Given the description of an element on the screen output the (x, y) to click on. 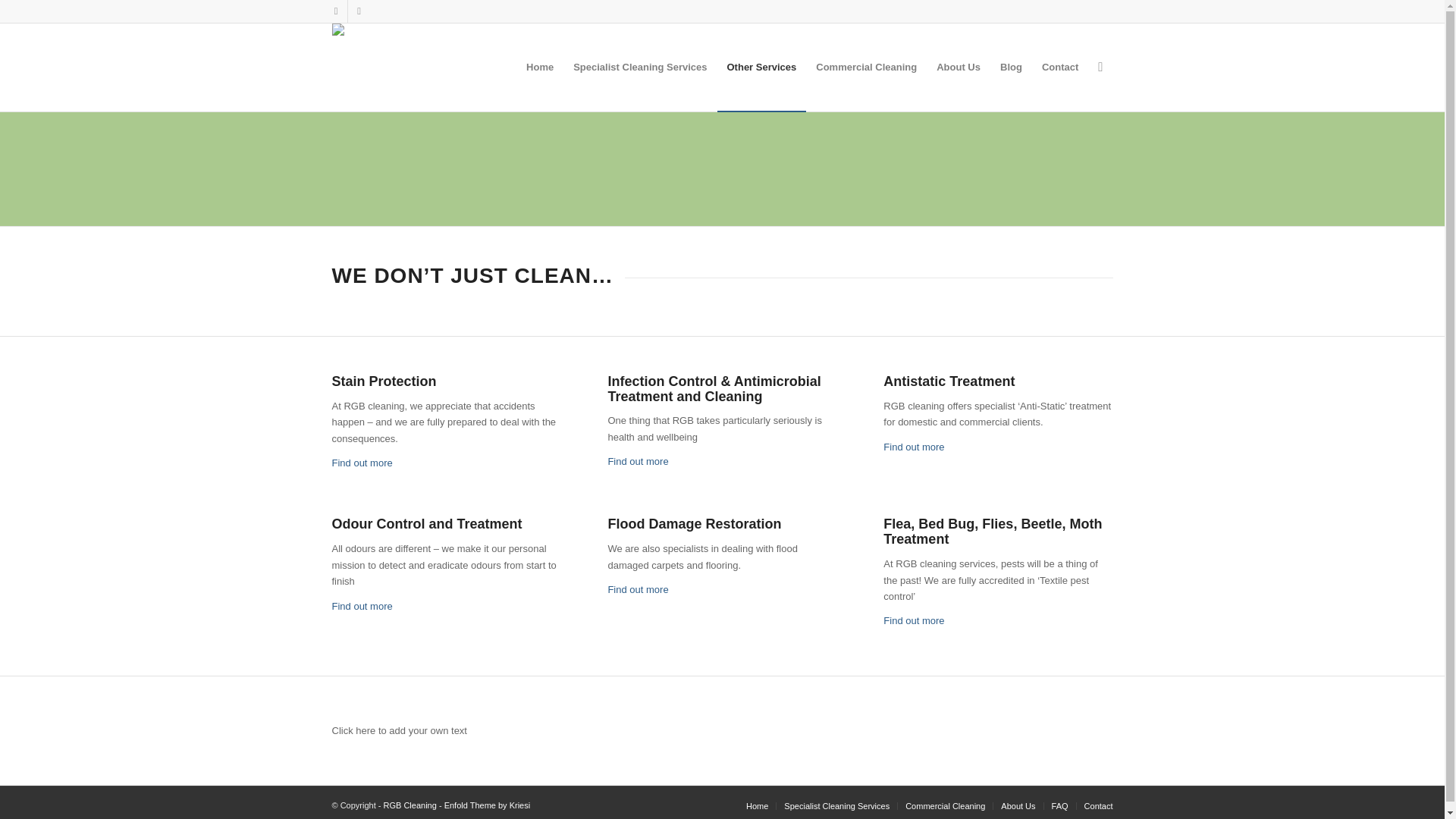
Antistatic Treatment (913, 446)
Facebook (335, 11)
Find out more (637, 460)
Odour Control and treatment (362, 605)
Commercial Cleaning (866, 67)
Stain protection for Carpets and Upholstery (362, 462)
Flood Damage (637, 589)
Other Services (761, 67)
Find out more (362, 605)
Mail (358, 11)
